Given the description of an element on the screen output the (x, y) to click on. 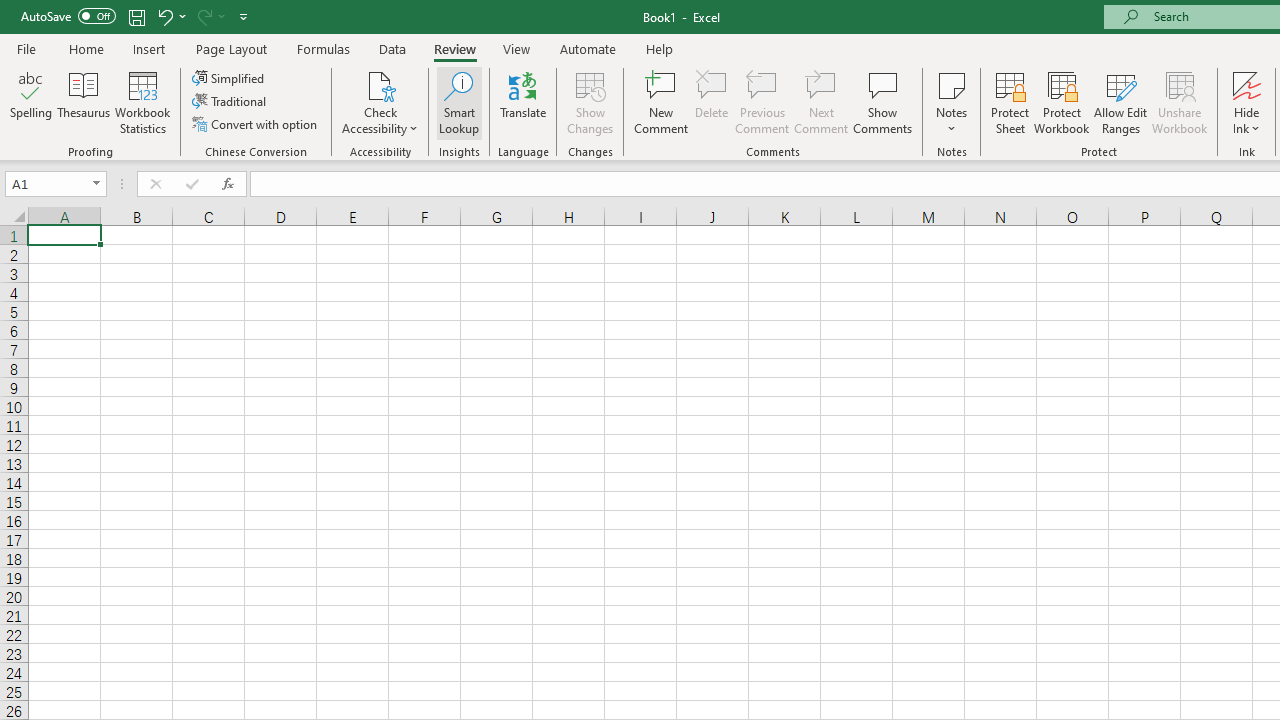
Workbook Statistics (142, 102)
Show Comments (883, 102)
Simplified (230, 78)
Translate (523, 102)
